Given the description of an element on the screen output the (x, y) to click on. 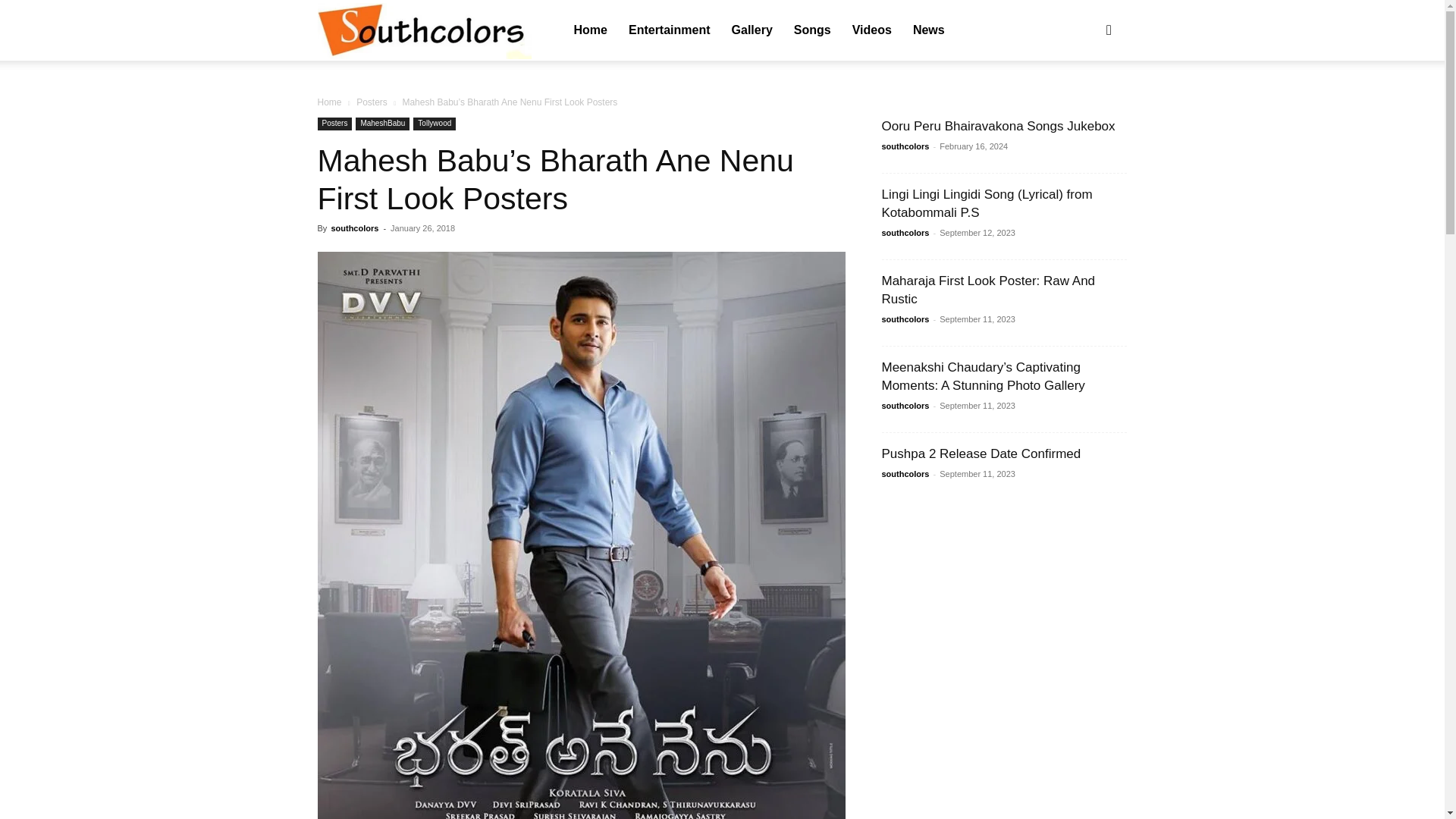
SouthColors (424, 30)
southcolors (424, 30)
MaheshBabu (382, 313)
Home (590, 30)
View all posts in Posters (371, 291)
Posters (371, 291)
Search (1085, 102)
Entertainment (675, 30)
Songs (838, 30)
Posters (334, 313)
